Given the description of an element on the screen output the (x, y) to click on. 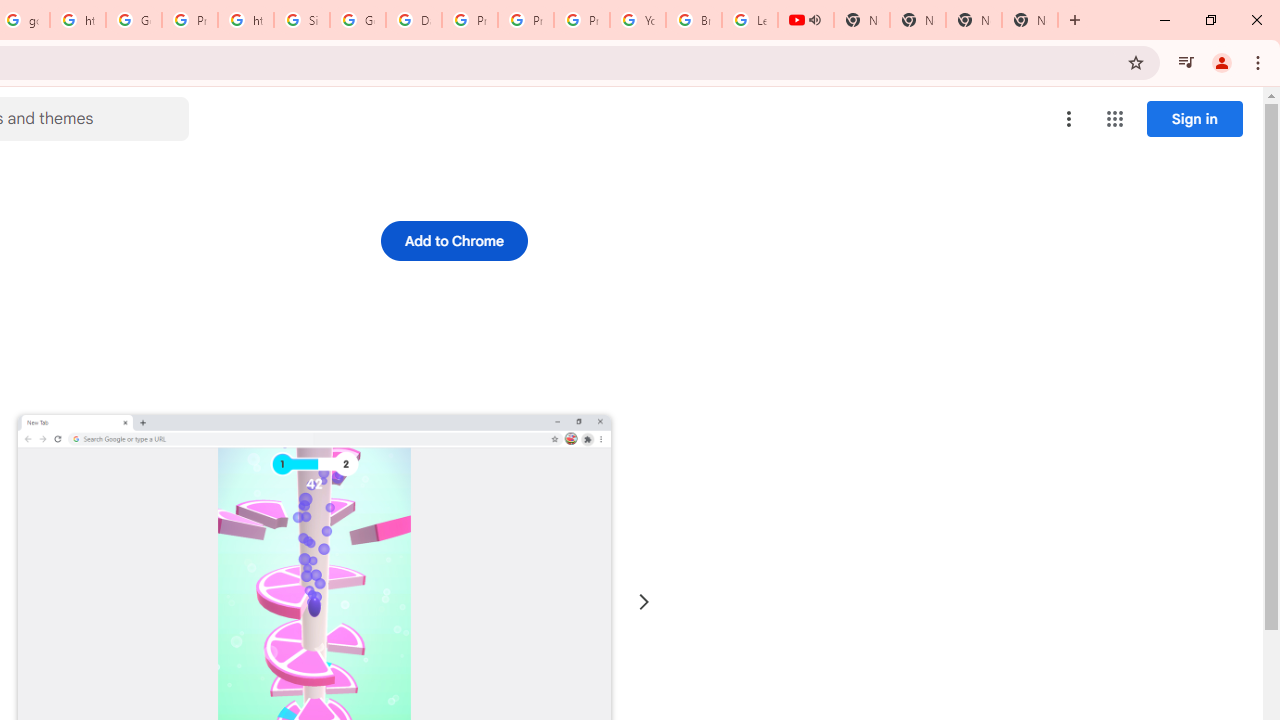
Privacy Help Center - Policies Help (469, 20)
Sign in - Google Accounts (301, 20)
YouTube (637, 20)
